Given the description of an element on the screen output the (x, y) to click on. 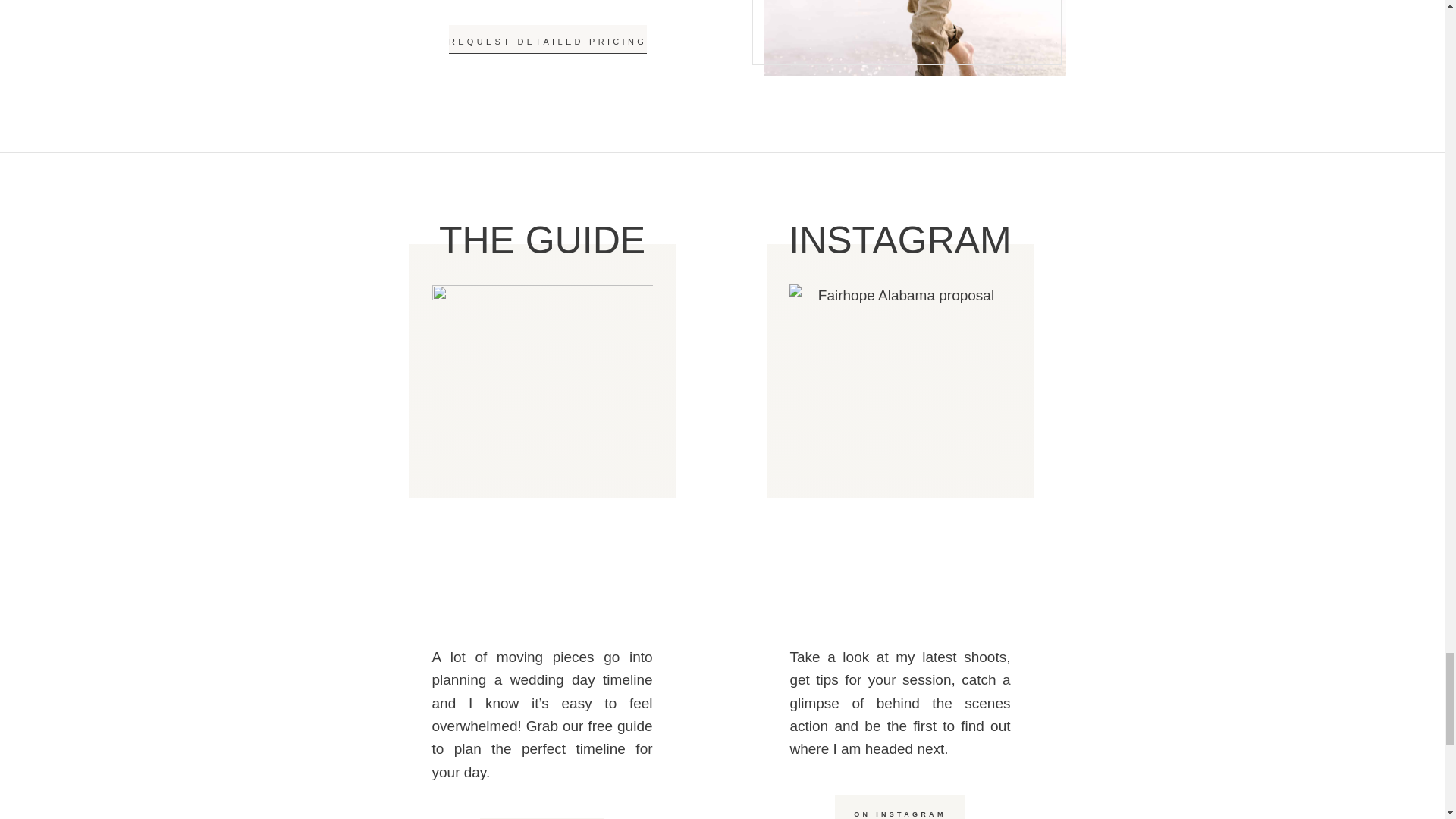
ON INSTAGRAM (898, 807)
REQUEST DETAILED PRICING (547, 39)
